Given the description of an element on the screen output the (x, y) to click on. 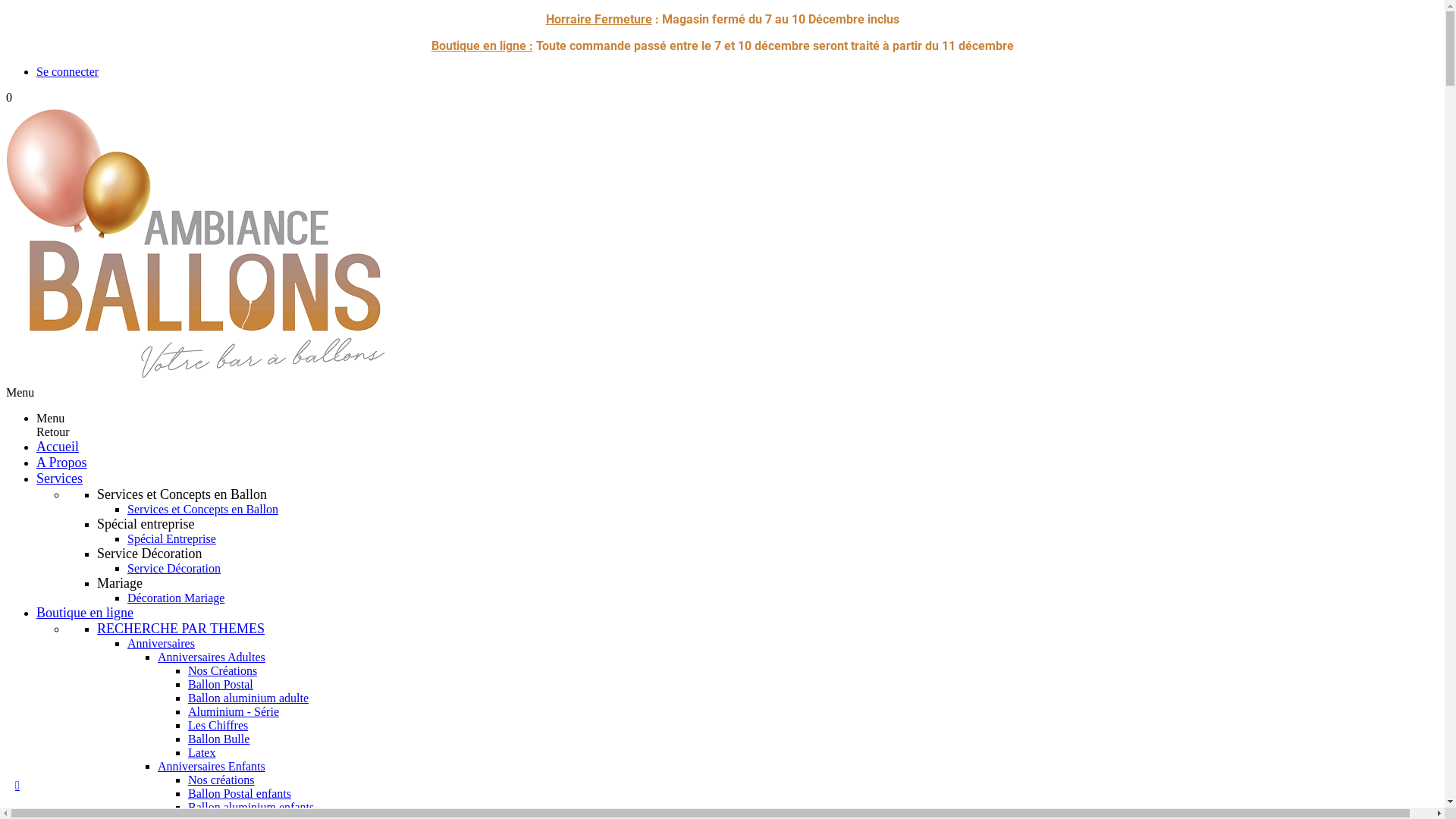
Latex Element type: text (201, 752)
RECHERCHE PAR THEMES Element type: text (180, 628)
Anniversaires Element type: text (160, 643)
A Propos Element type: text (61, 462)
Ballon Postal Element type: text (220, 683)
Services et Concepts en Ballon Element type: text (202, 508)
Ballon Postal enfants Element type: text (239, 793)
Accueil Element type: text (57, 446)
Anniversaires Enfants Element type: text (211, 765)
Ballon aluminium adulte Element type: text (248, 697)
Ballon aluminium enfants Element type: text (250, 806)
Services Element type: text (59, 478)
Se connecter Element type: text (67, 71)
Boutique en ligne Element type: text (84, 612)
Les Chiffres Element type: text (217, 724)
Ballon Bulle Element type: text (218, 738)
Anniversaires Adultes Element type: text (211, 656)
